Given the description of an element on the screen output the (x, y) to click on. 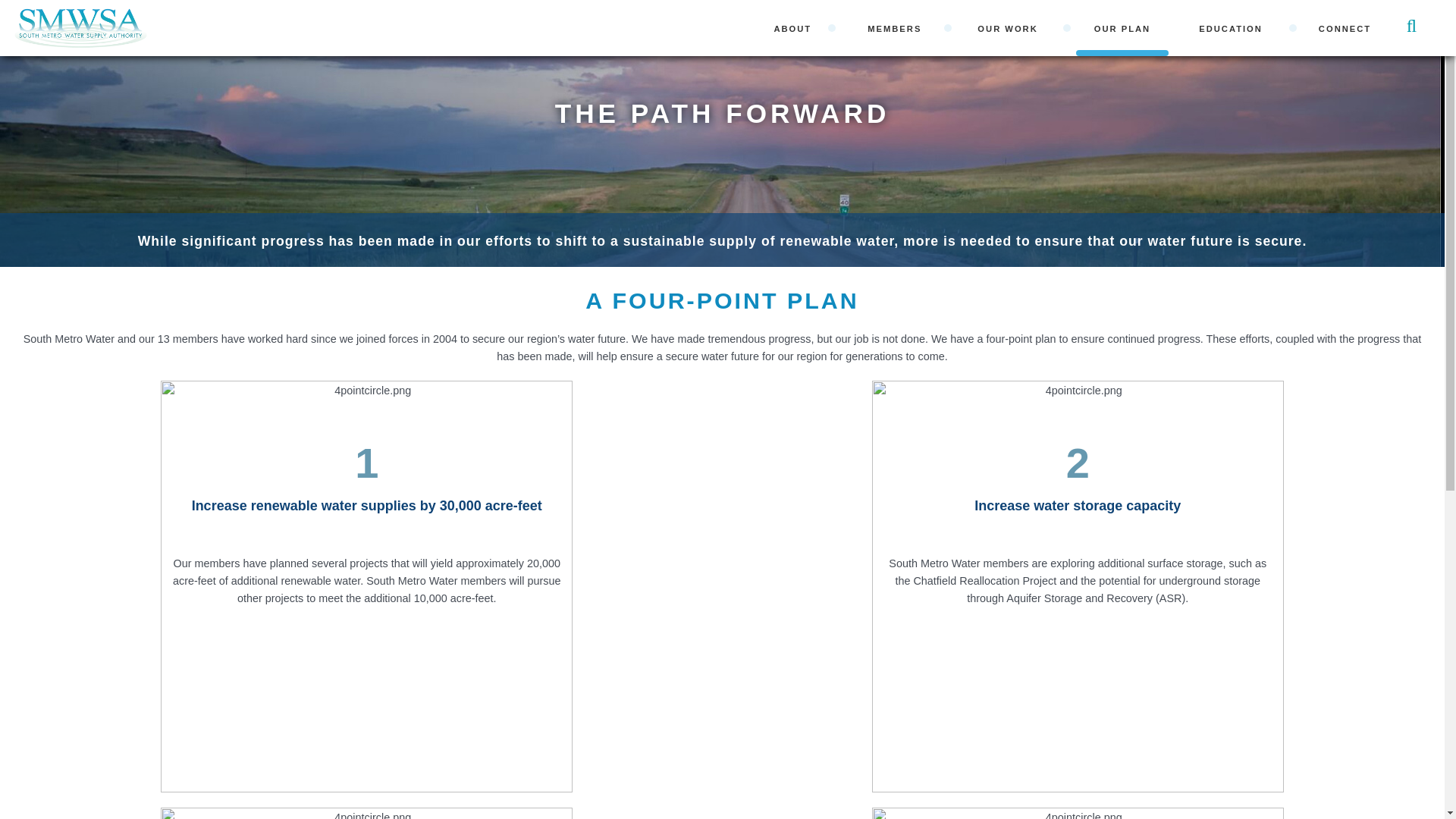
OUR WORK (1010, 28)
MEMBERS (897, 28)
CONNECT (1344, 28)
EDUCATION (1234, 28)
ABOUT (796, 28)
OUR PLAN (1122, 28)
